Given the description of an element on the screen output the (x, y) to click on. 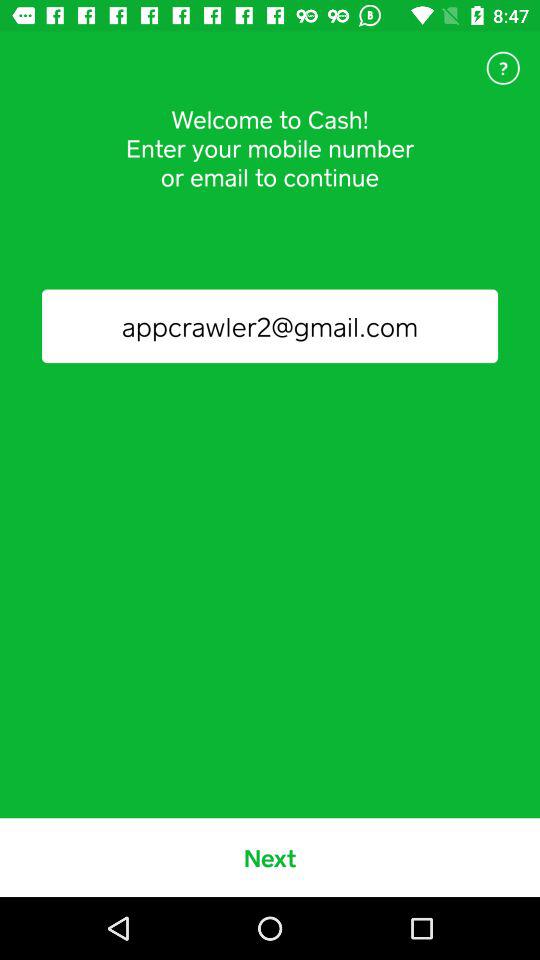
scroll to the next item (270, 857)
